Given the description of an element on the screen output the (x, y) to click on. 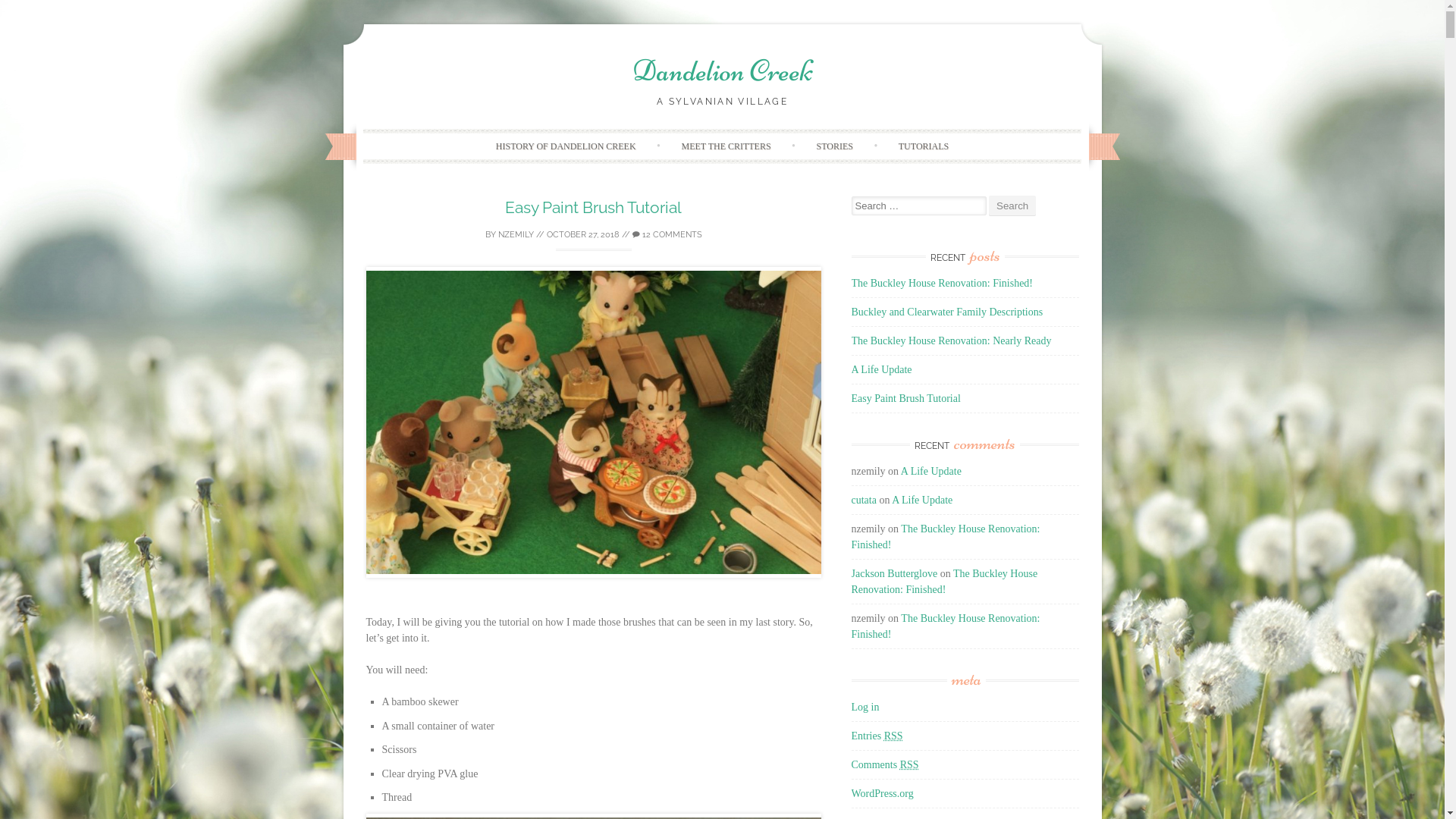
Jackson Butterglove Element type: text (893, 573)
Dandelion Creek Element type: text (722, 70)
Search Element type: text (1011, 205)
Log in Element type: text (864, 706)
Easy Paint Brush Tutorial Element type: text (905, 398)
A Life Update Element type: text (921, 499)
12 COMMENTS Element type: text (667, 234)
Skip to content Element type: text (753, 136)
Entries RSS Element type: text (876, 735)
A Life Update Element type: text (930, 470)
Easy Paint Brush Tutorial Element type: text (593, 206)
Buckley and Clearwater Family Descriptions Element type: text (946, 311)
OCTOBER 27, 2018 Element type: text (582, 234)
A Life Update Element type: text (880, 369)
WordPress.org Element type: text (881, 793)
TUTORIALS Element type: text (923, 146)
The Buckley House Renovation: Finished! Element type: text (941, 282)
The Buckley House Renovation: Nearly Ready Element type: text (950, 340)
HISTORY OF DANDELION CREEK Element type: text (565, 146)
The Buckley House Renovation: Finished! Element type: text (943, 581)
NZEMILY Element type: text (515, 234)
The Buckley House Renovation: Finished! Element type: text (944, 626)
cutata Element type: text (862, 499)
MEET THE CRITTERS Element type: text (725, 146)
Comments RSS Element type: text (884, 764)
The Buckley House Renovation: Finished! Element type: text (944, 536)
STORIES Element type: text (833, 146)
